Given the description of an element on the screen output the (x, y) to click on. 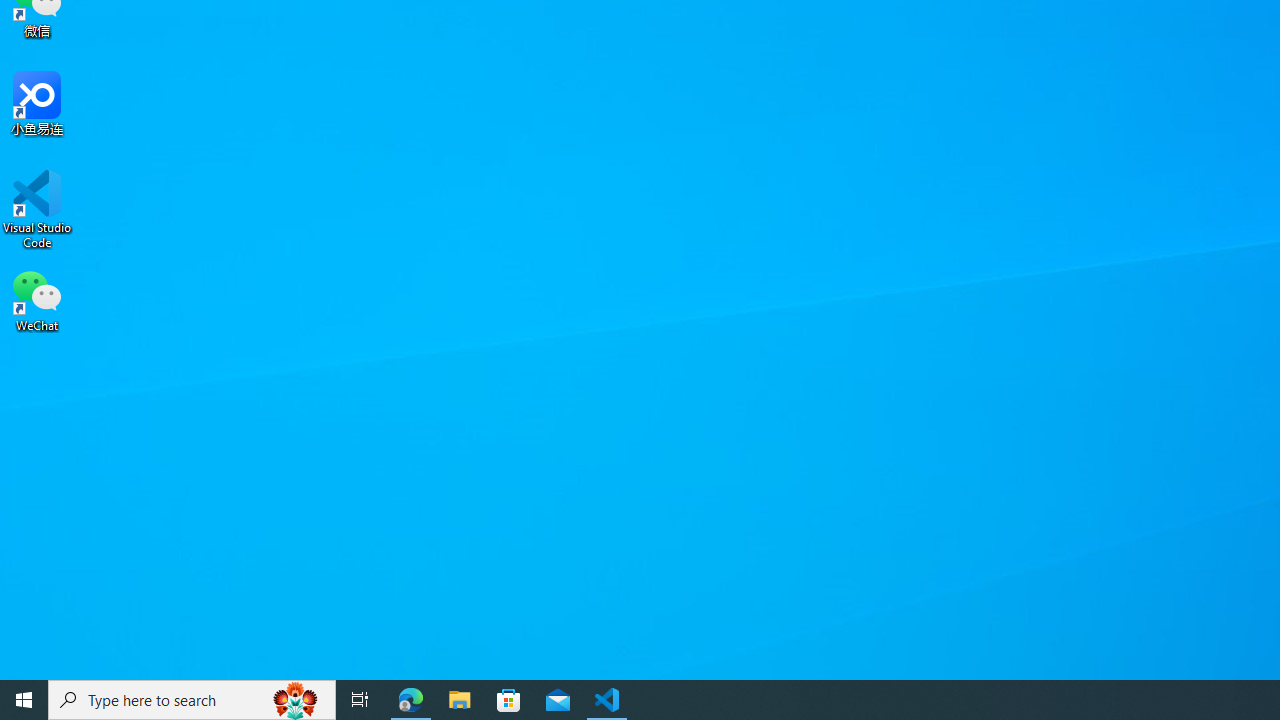
Visual Studio Code - 1 running window (607, 699)
Visual Studio Code (37, 209)
Type here to search (191, 699)
Start (24, 699)
File Explorer (460, 699)
Task View (359, 699)
Microsoft Edge - 1 running window (411, 699)
Search highlights icon opens search home window (295, 699)
Microsoft Store (509, 699)
WeChat (37, 299)
